Given the description of an element on the screen output the (x, y) to click on. 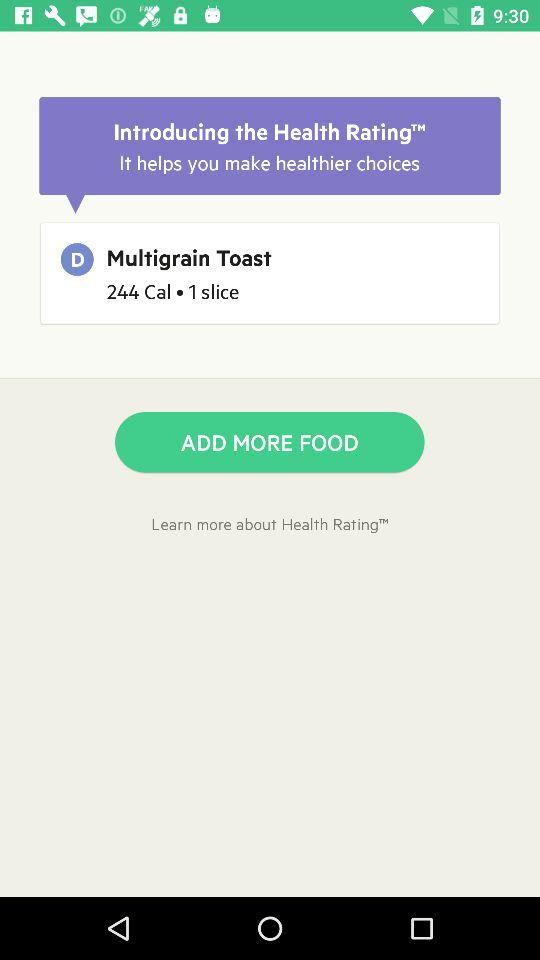
open icon above learn more about item (269, 442)
